Given the description of an element on the screen output the (x, y) to click on. 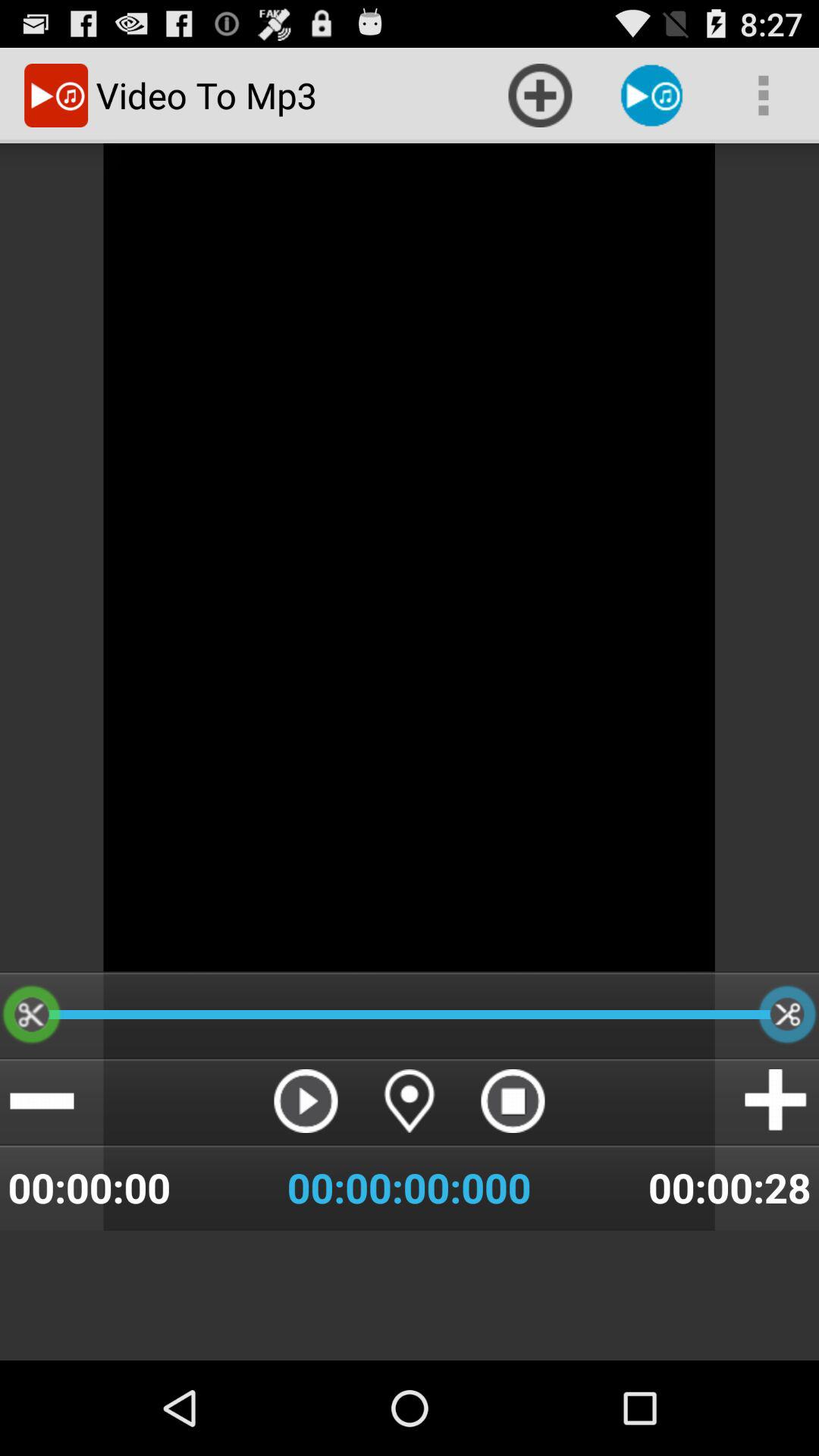
turn on the icon above 00:00:00 app (41, 1100)
